Given the description of an element on the screen output the (x, y) to click on. 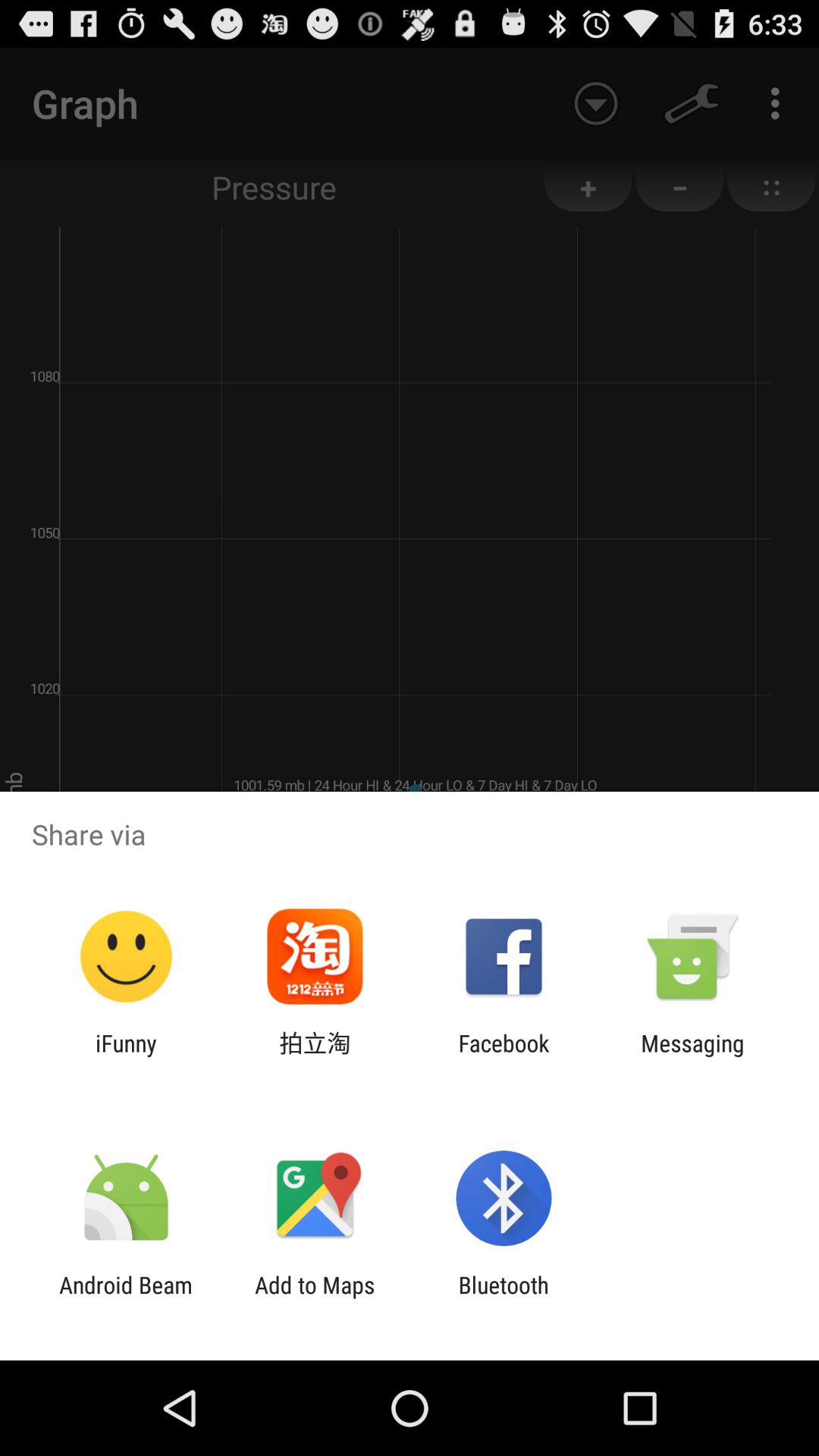
turn off item to the right of ifunny app (314, 1056)
